Given the description of an element on the screen output the (x, y) to click on. 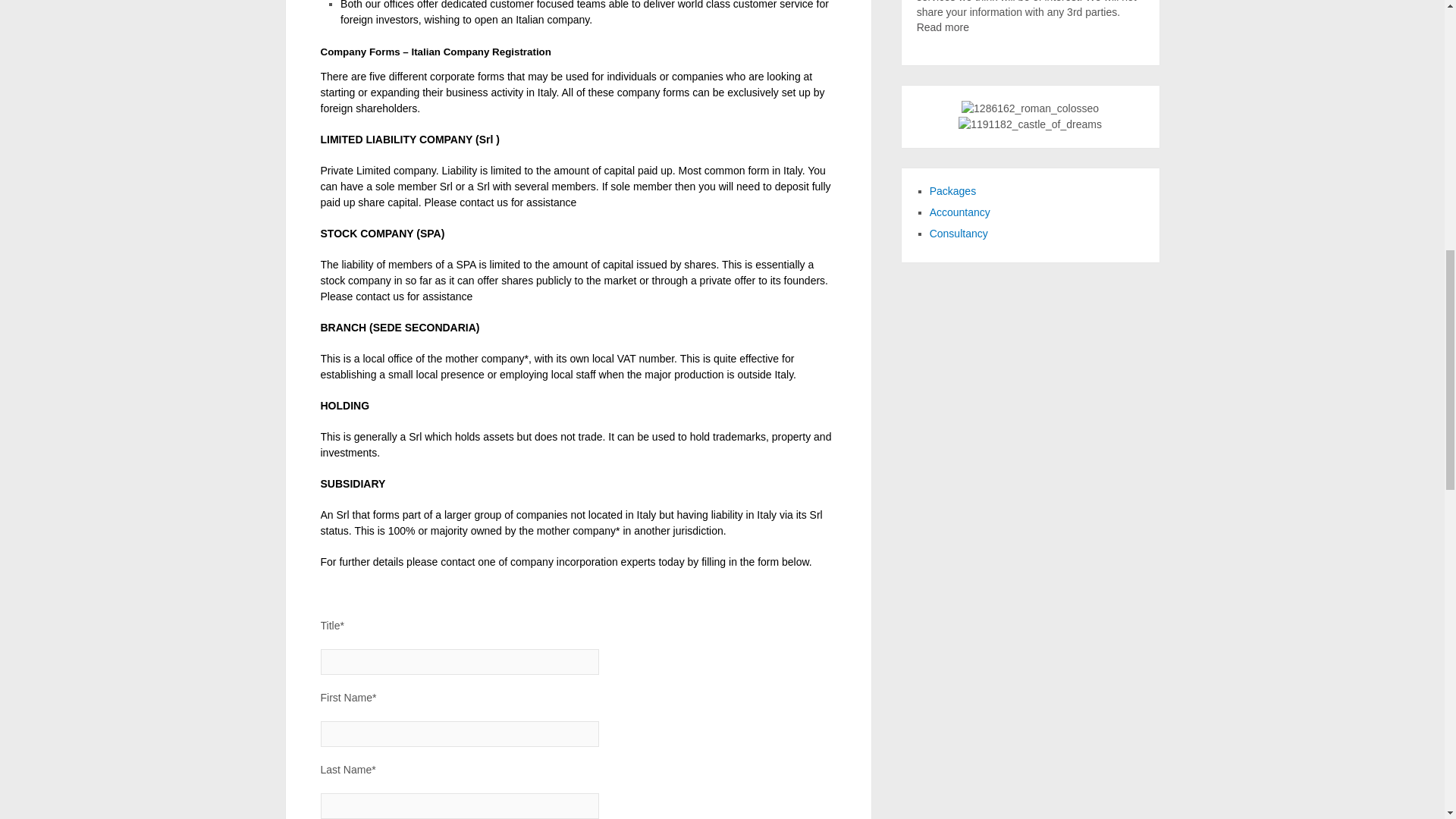
Packages (952, 191)
Consultancy (959, 233)
Accountancy (960, 212)
Read more (943, 27)
